Given the description of an element on the screen output the (x, y) to click on. 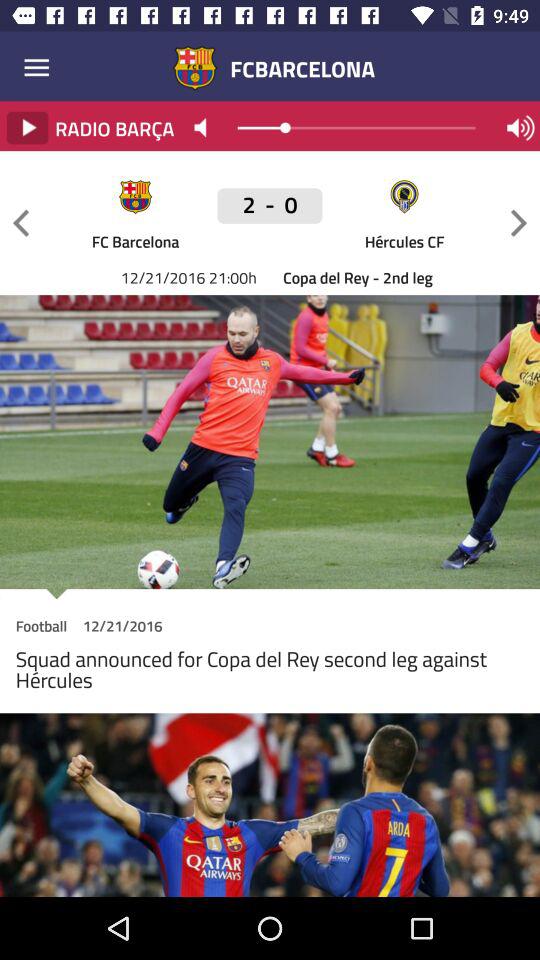
choose the item above the squad announced for item (41, 628)
